Given the description of an element on the screen output the (x, y) to click on. 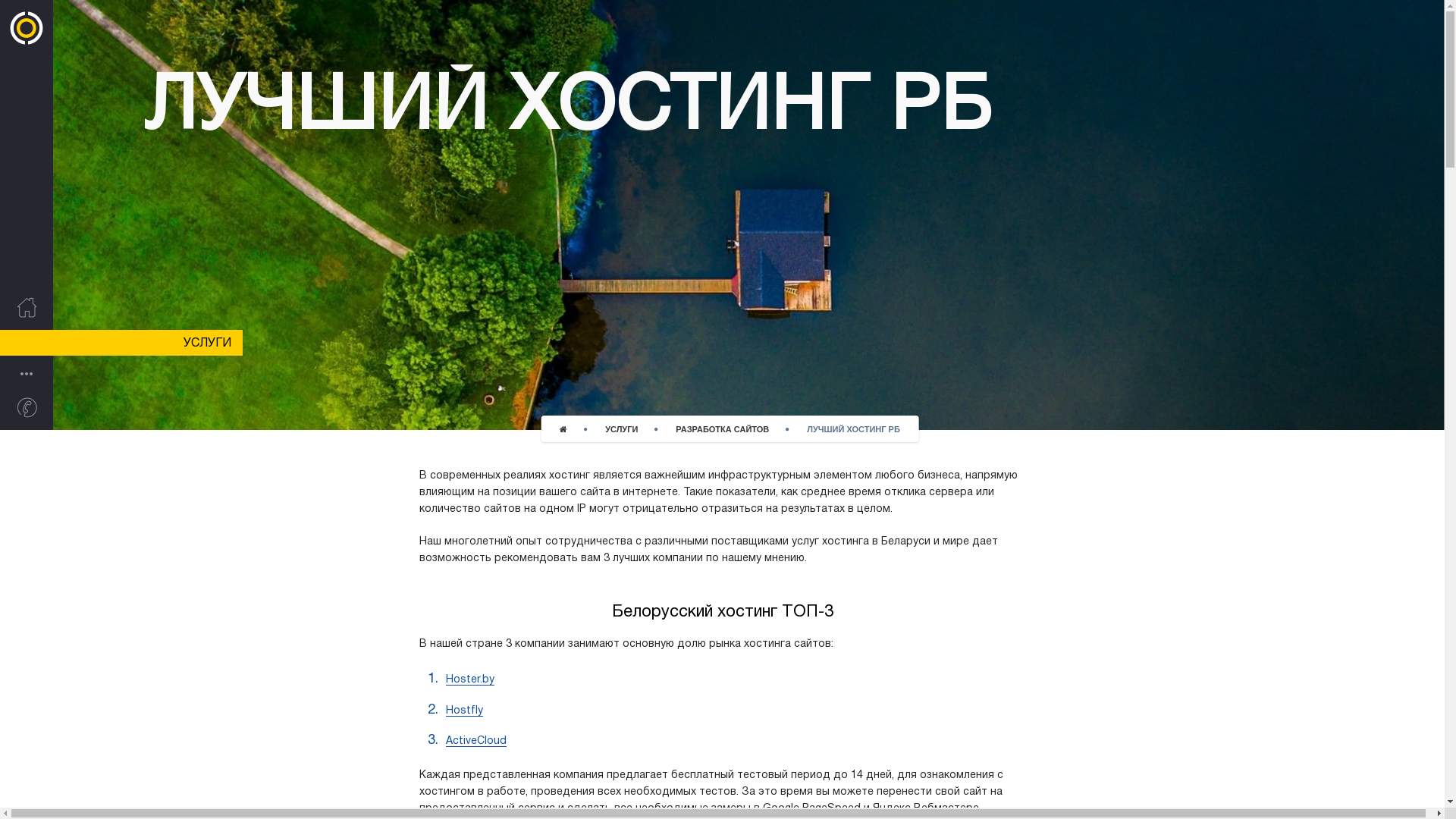
Hostfly Element type: text (464, 711)
Hoster.by Element type: text (469, 679)
ActiveCloud Element type: text (475, 741)
